Given the description of an element on the screen output the (x, y) to click on. 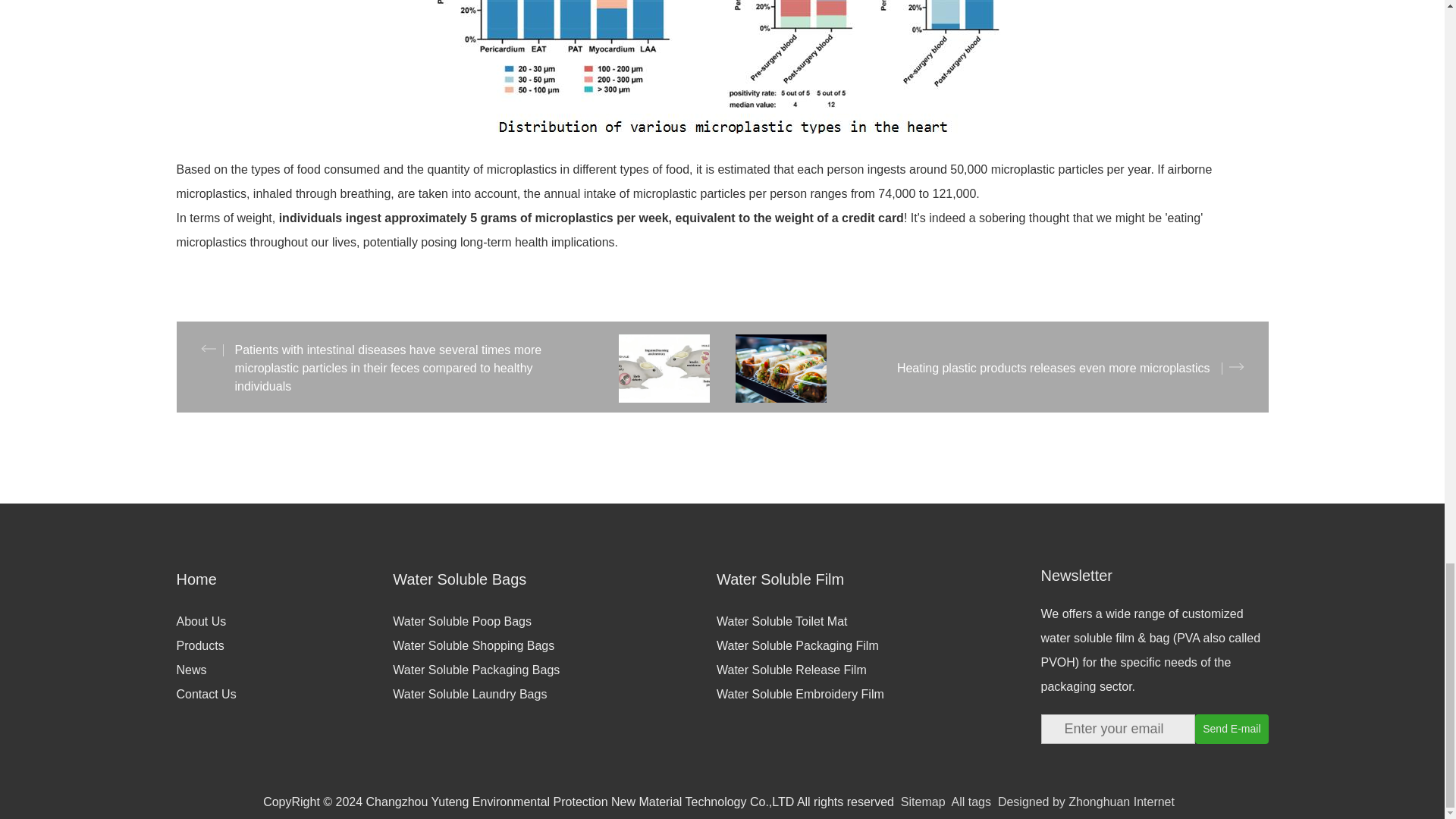
About Us (284, 621)
Products (284, 645)
News (284, 670)
Send E-mail (1231, 728)
Zhonghuan Internet (1085, 801)
Distribution of various microplastic types in the heart (721, 66)
Home (284, 579)
Heating plastic products releases even more microplastics (995, 368)
